Given the description of an element on the screen output the (x, y) to click on. 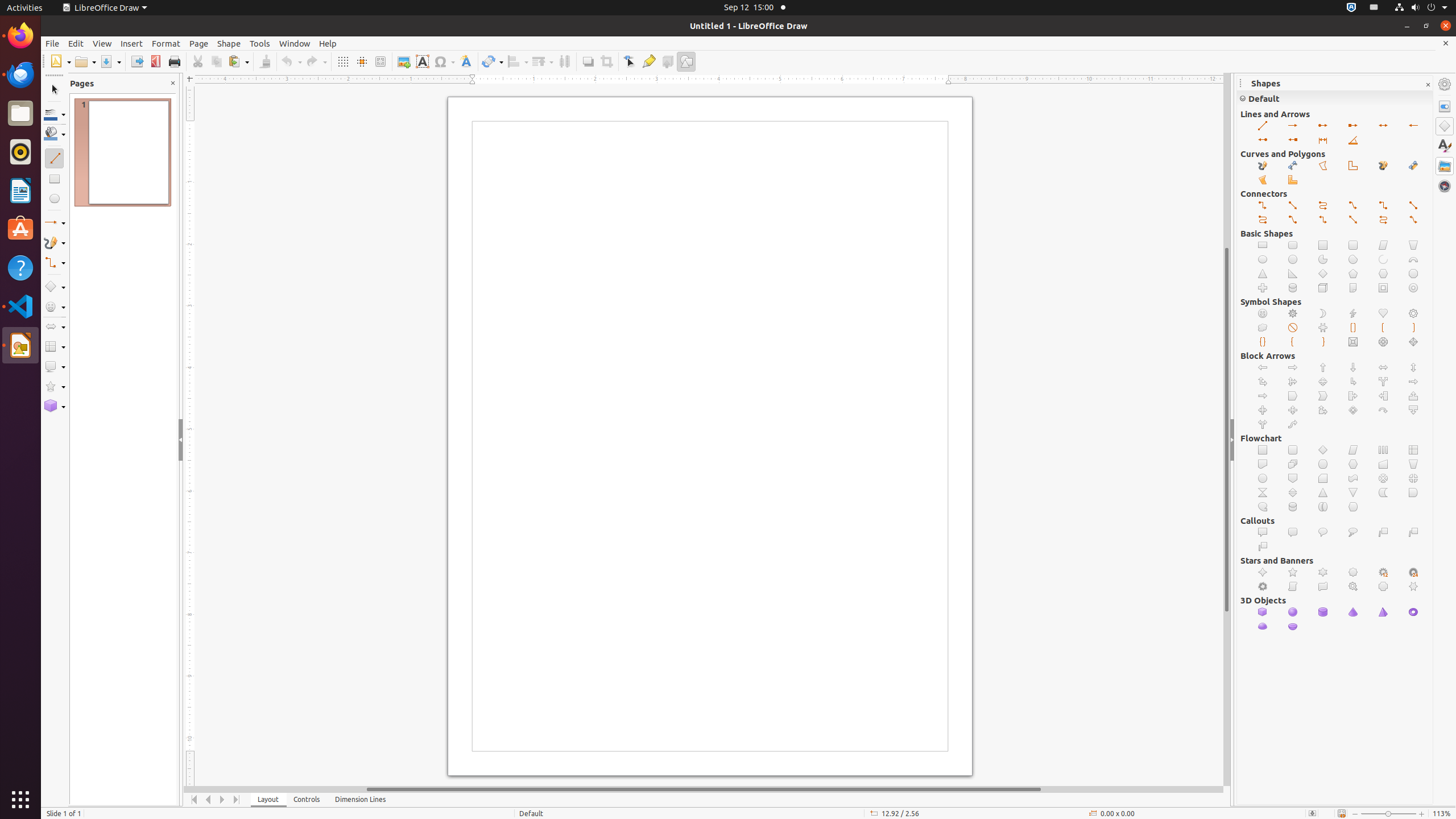
File Element type: menu (51, 43)
Save Element type: push-button (109, 61)
Curved Connector Ends with Arrow Element type: list-item (1323, 205)
Line Callout 3 Element type: list-item (1262, 546)
Flowchart: Extract Element type: list-item (1323, 492)
